Given the description of an element on the screen output the (x, y) to click on. 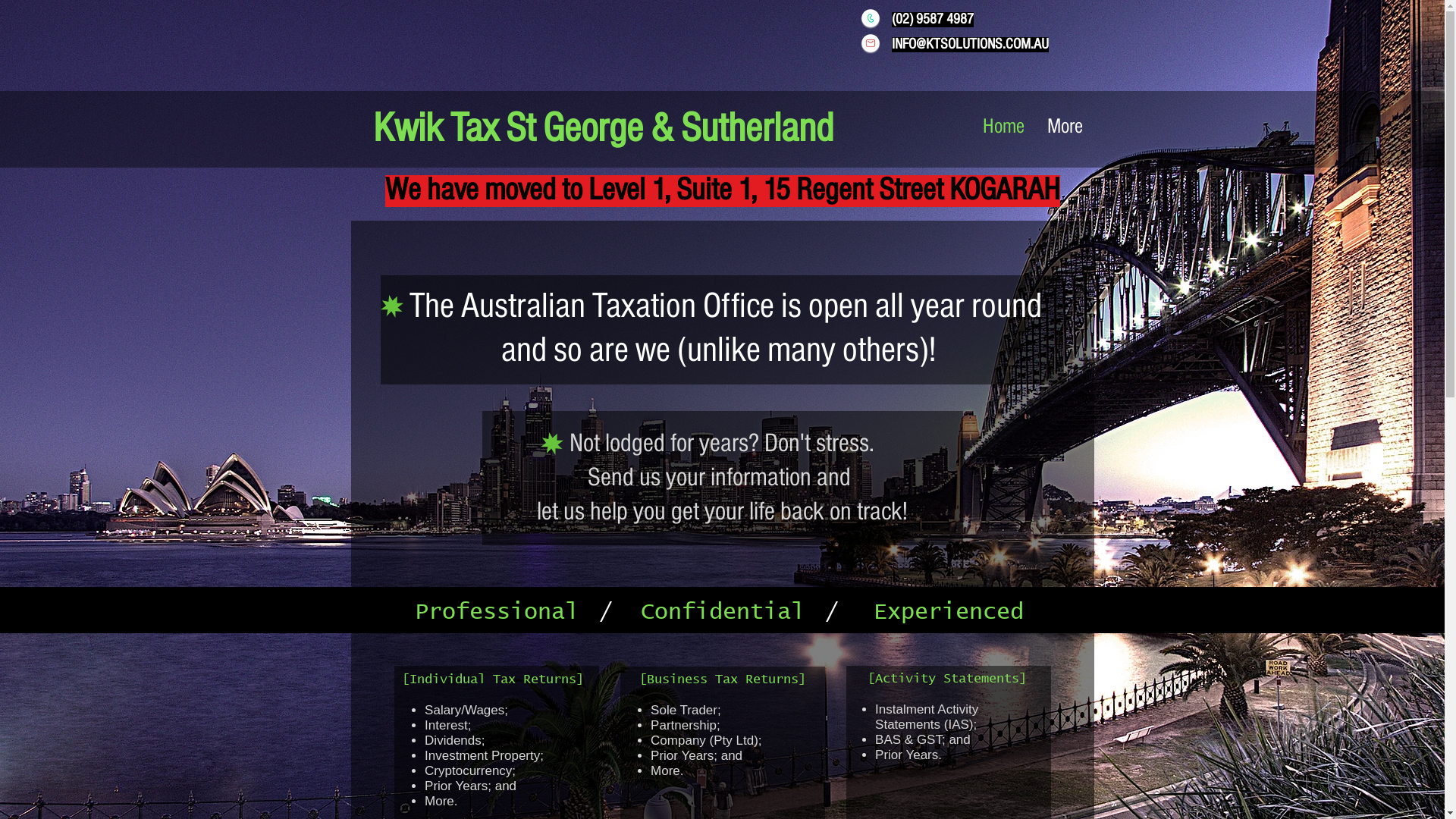
INFO@KTSOLUTIONS.COM.AU Element type: text (969, 44)
Kwik Tax St George & Sutherland Element type: text (603, 130)
Home Element type: text (1002, 126)
